Given the description of an element on the screen output the (x, y) to click on. 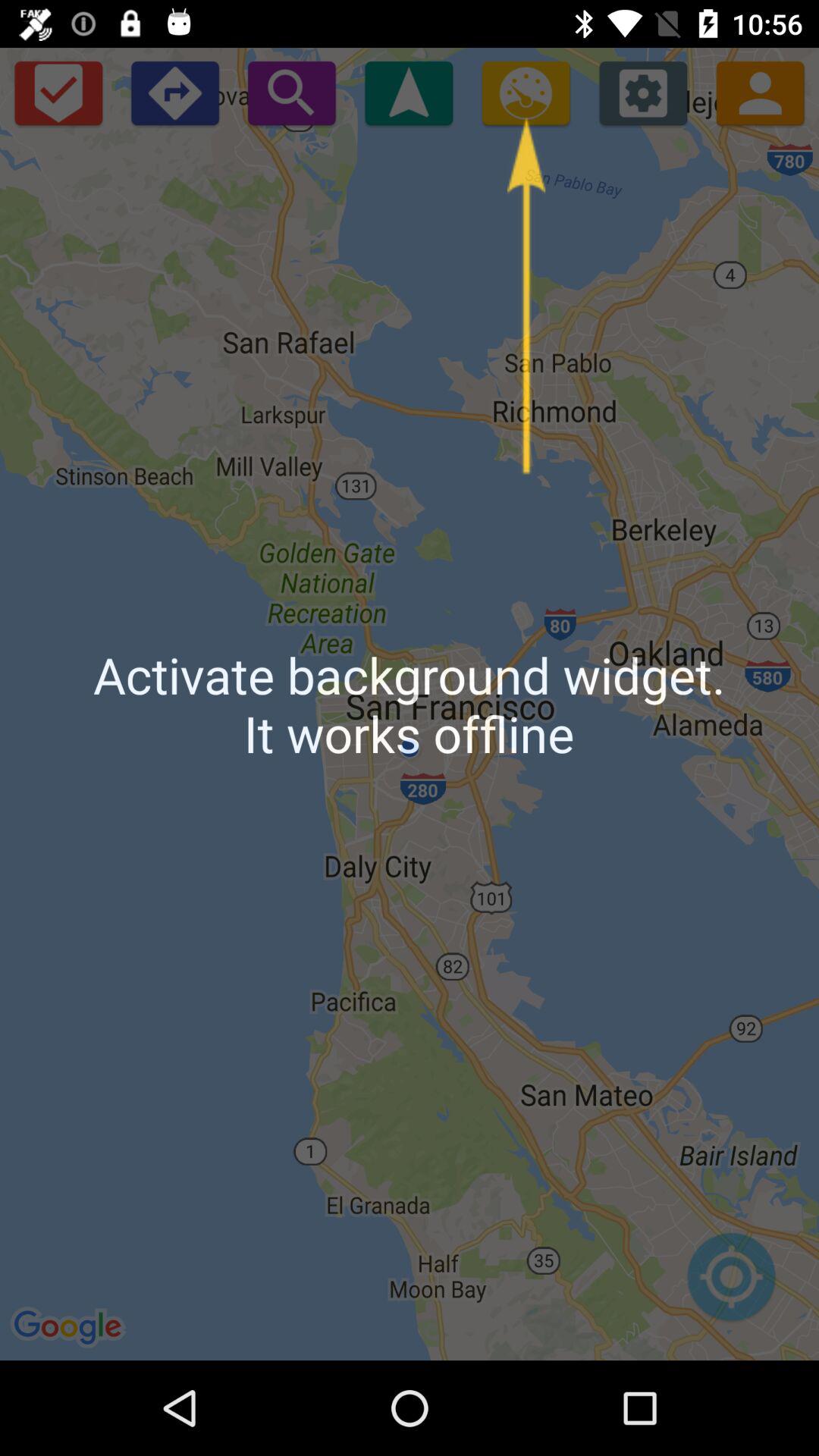
show current location pin (408, 92)
